Given the description of an element on the screen output the (x, y) to click on. 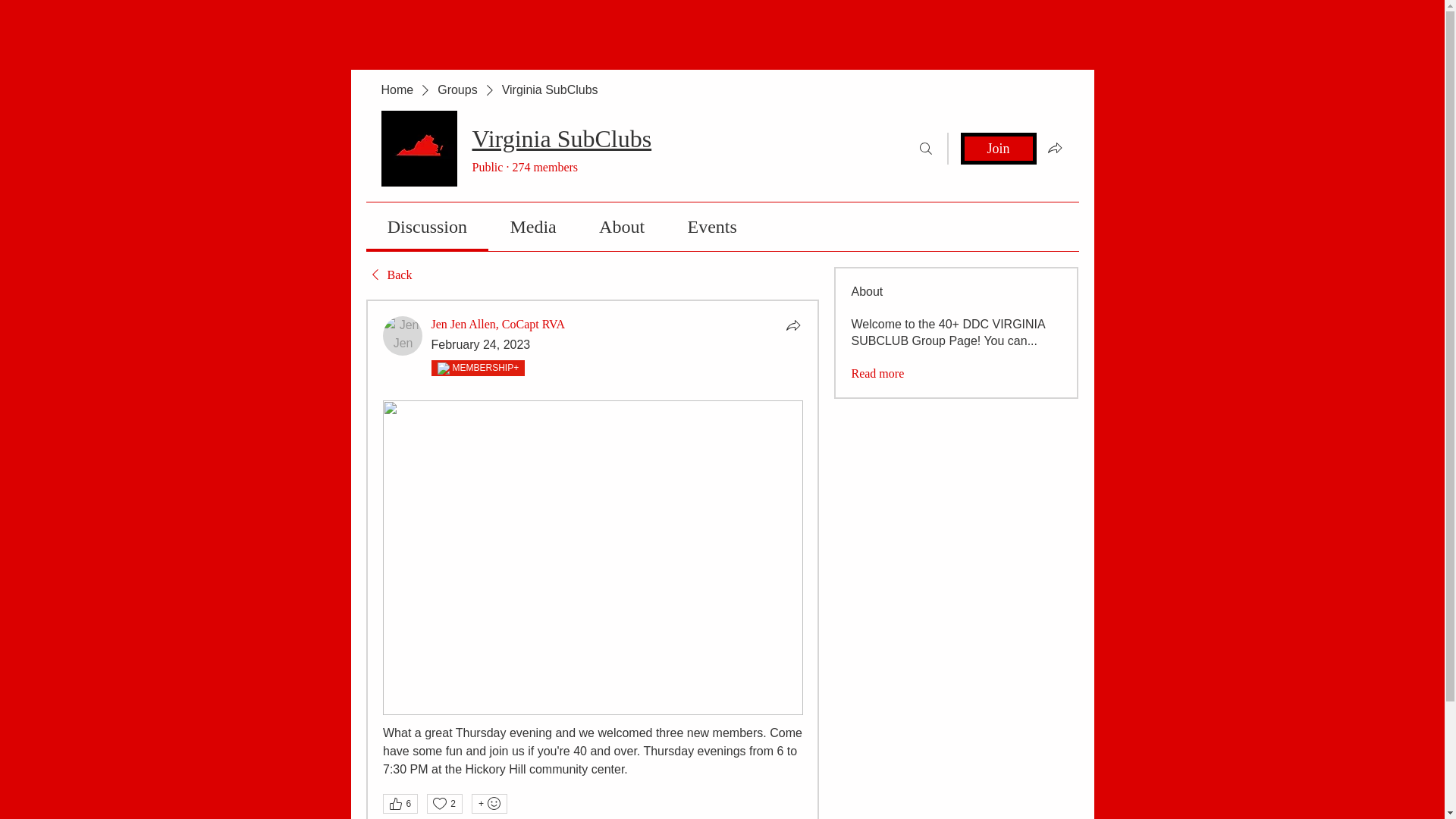
Jen Jen Allen, CoCapt RVA  (401, 335)
Jen Jen Allen, CoCapt RVA  (497, 323)
